Given the description of an element on the screen output the (x, y) to click on. 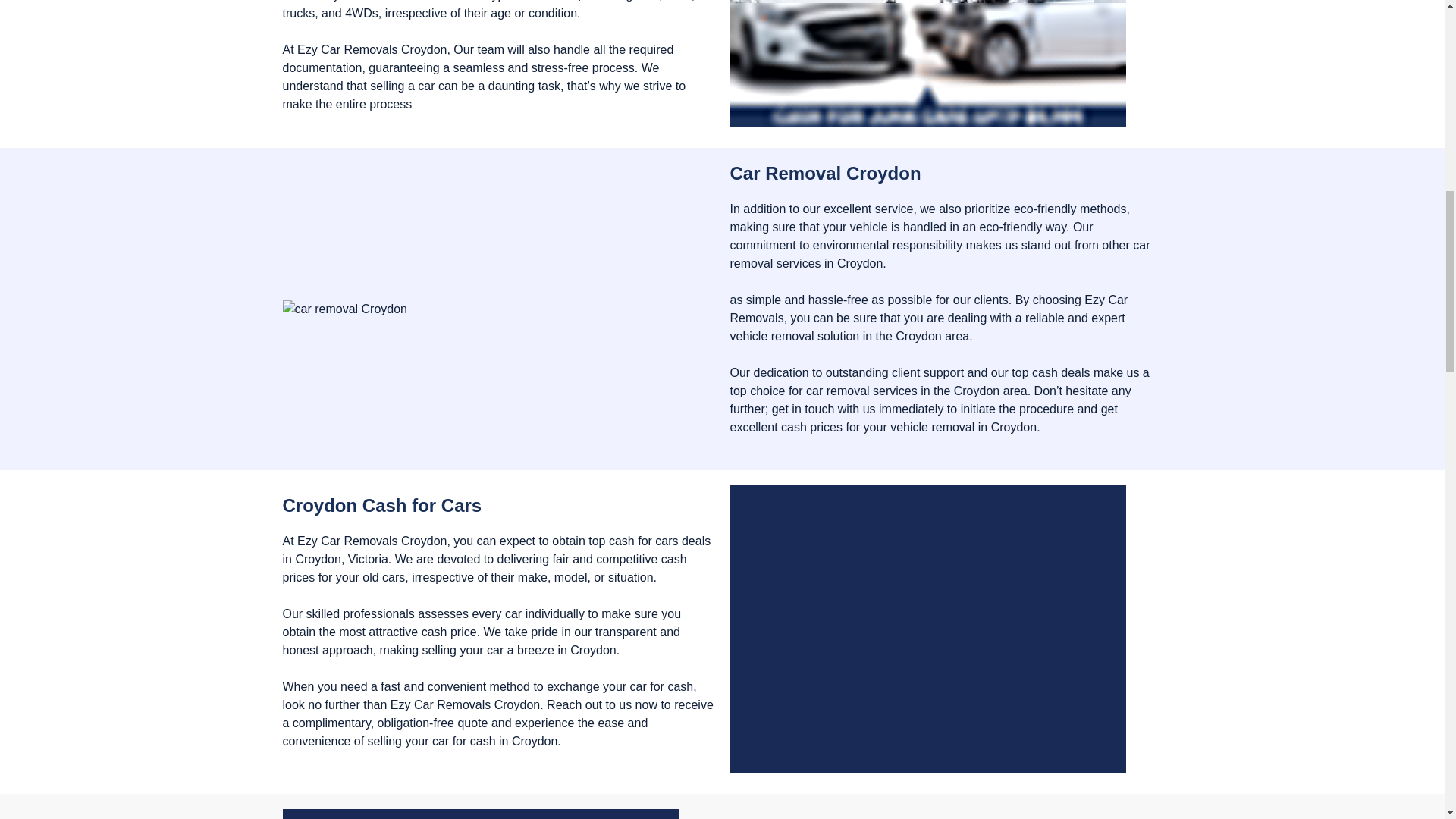
Car Removals Croydon (344, 309)
Car Removals Croydon (480, 814)
Car Removals Croydon (927, 629)
Ezy Car Removals (347, 49)
Car Removals Croydon (927, 63)
